Given the description of an element on the screen output the (x, y) to click on. 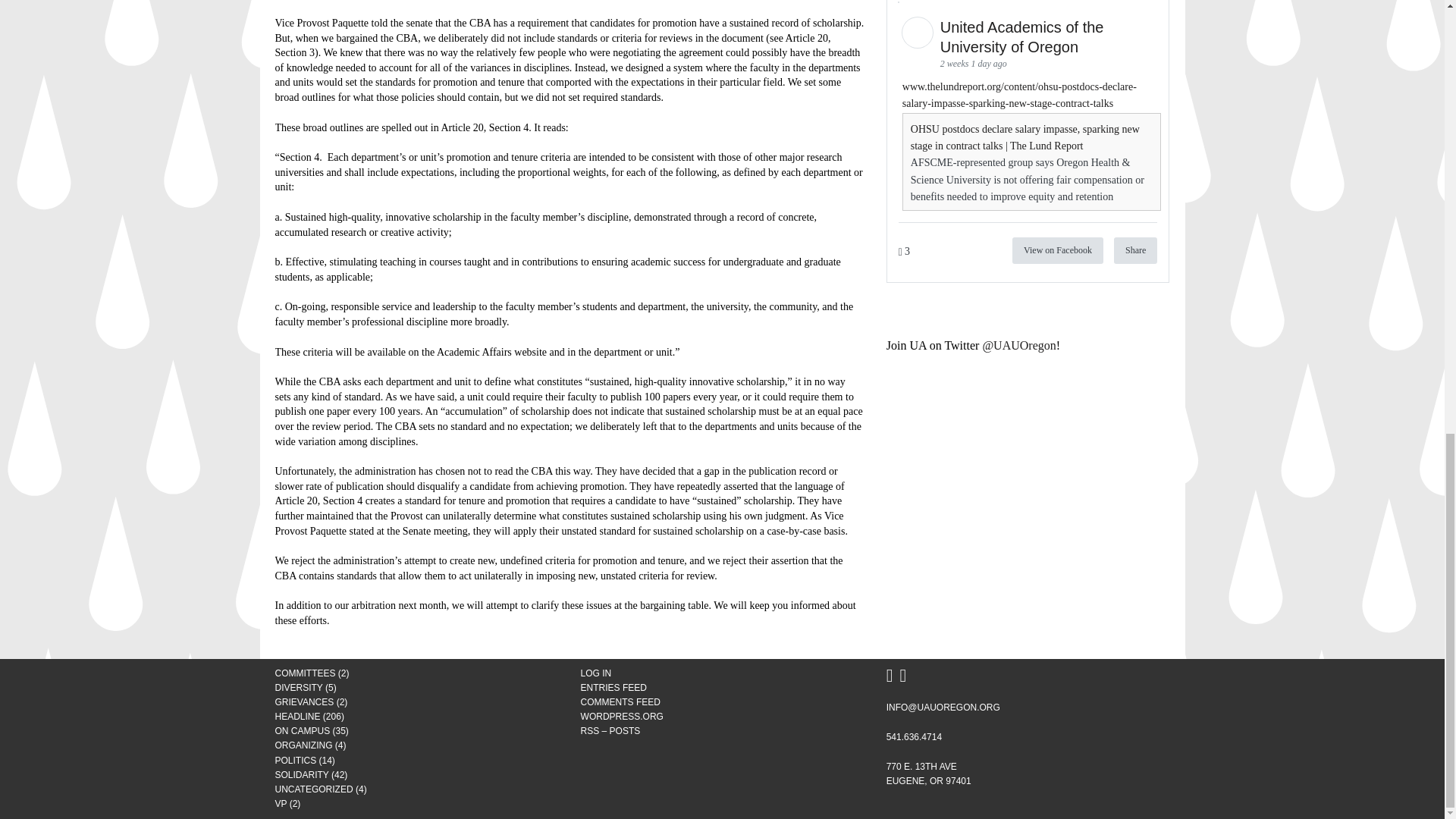
Subscribe to posts (610, 730)
